Given the description of an element on the screen output the (x, y) to click on. 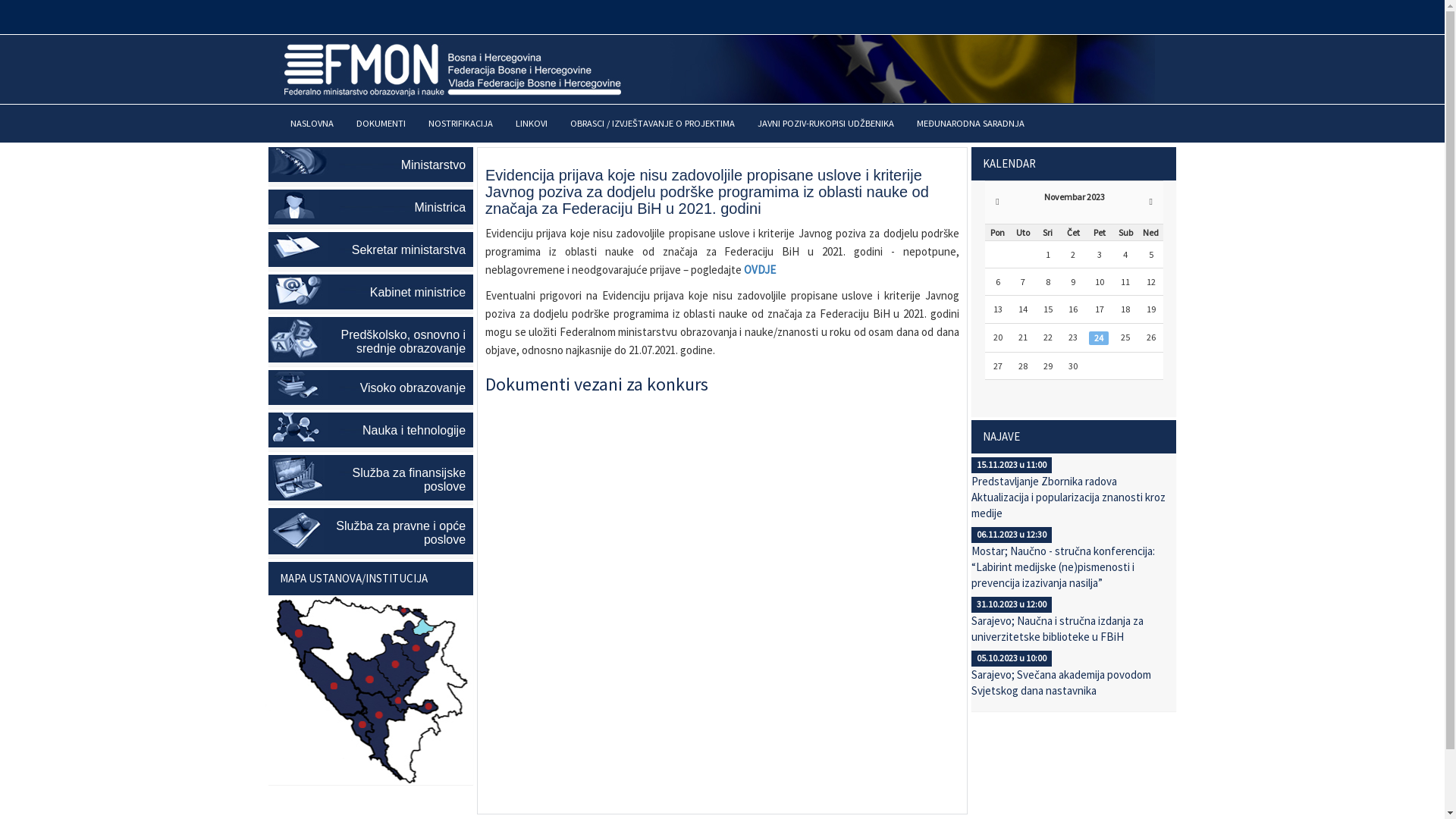
NOSTRIFIKACIJA Element type: text (460, 123)
NASLOVNA Element type: text (312, 123)
LINKOVI Element type: text (530, 123)
NAJAVE Element type: text (1073, 436)
OVDJE Element type: text (759, 269)
Nauka i tehnologije Element type: text (370, 429)
Kabinet ministrice Element type: text (370, 291)
Ministrica Element type: text (370, 206)
DOKUMENTI Element type: text (380, 123)
Sekretar ministarstva Element type: text (370, 249)
Visoko obrazovanje Element type: text (370, 387)
Ministarstvo Element type: text (370, 164)
